Given the description of an element on the screen output the (x, y) to click on. 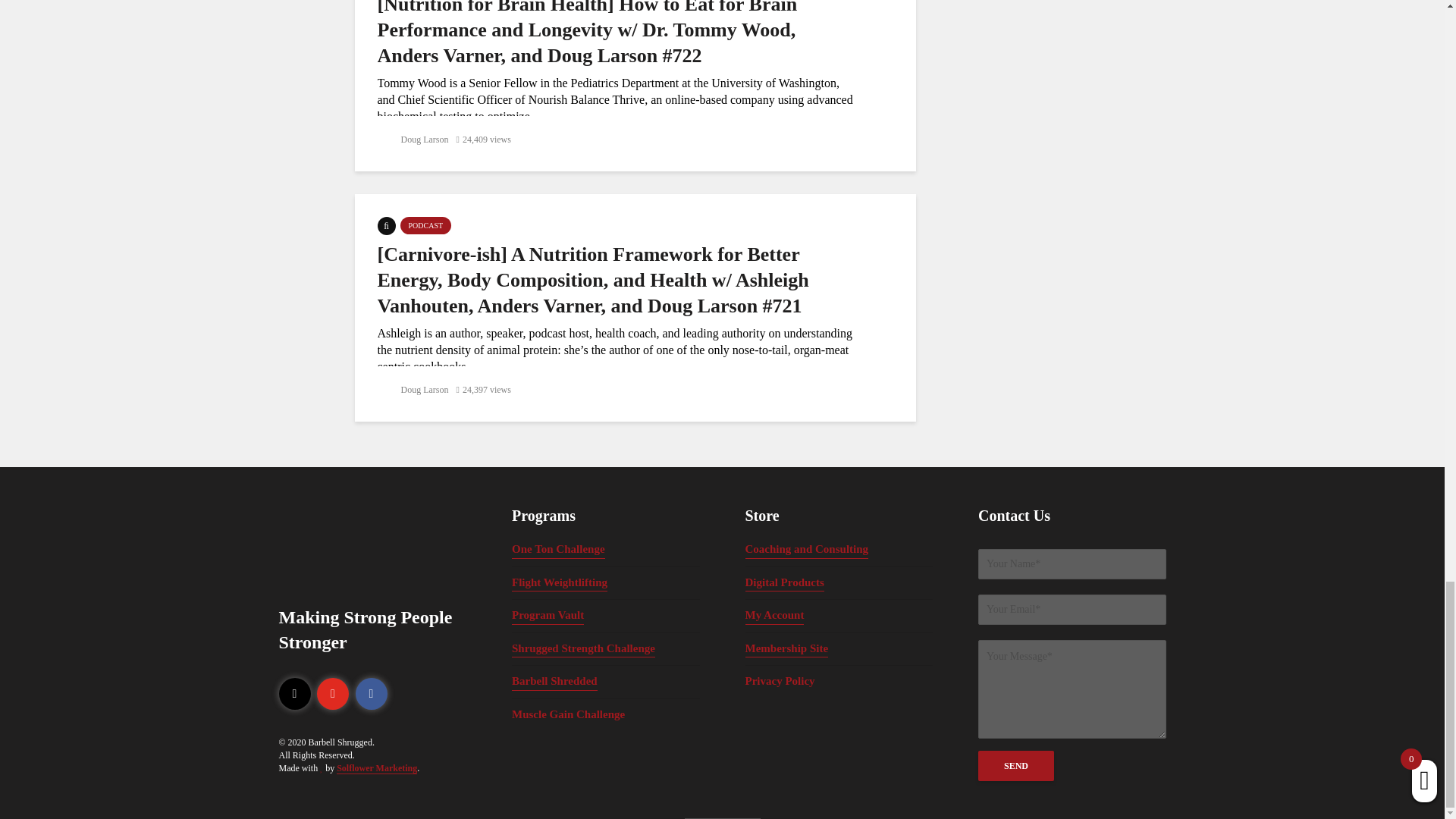
Send (1016, 766)
YouTube (333, 694)
Doug Larson (412, 139)
PODCAST (425, 225)
Facebook (371, 694)
Instagram (295, 694)
Doug Larson (412, 389)
youtube (333, 694)
instagram (295, 694)
